Given the description of an element on the screen output the (x, y) to click on. 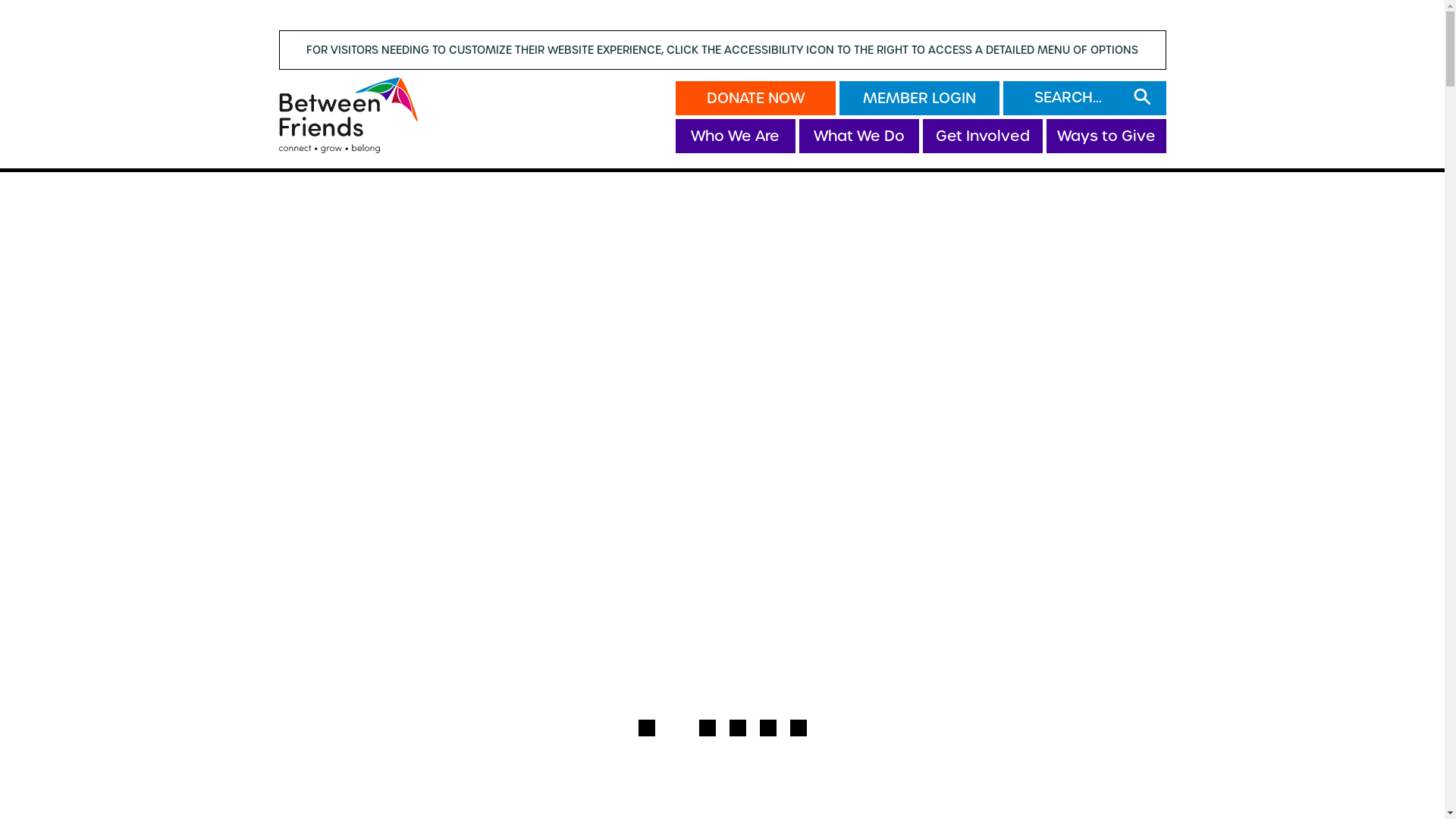
6 Element type: text (798, 727)
Ways to Give Element type: text (1106, 135)
4 Element type: text (737, 727)
Who We Are Element type: text (734, 135)
3 Element type: text (707, 727)
Get Involved Element type: text (982, 135)
DONATE NOW Element type: text (755, 97)
5 Element type: text (767, 727)
1 Element type: text (646, 727)
2 Element type: text (676, 727)
What We Do Element type: text (857, 135)
MEMBER LOGIN Element type: text (918, 97)
